Given the description of an element on the screen output the (x, y) to click on. 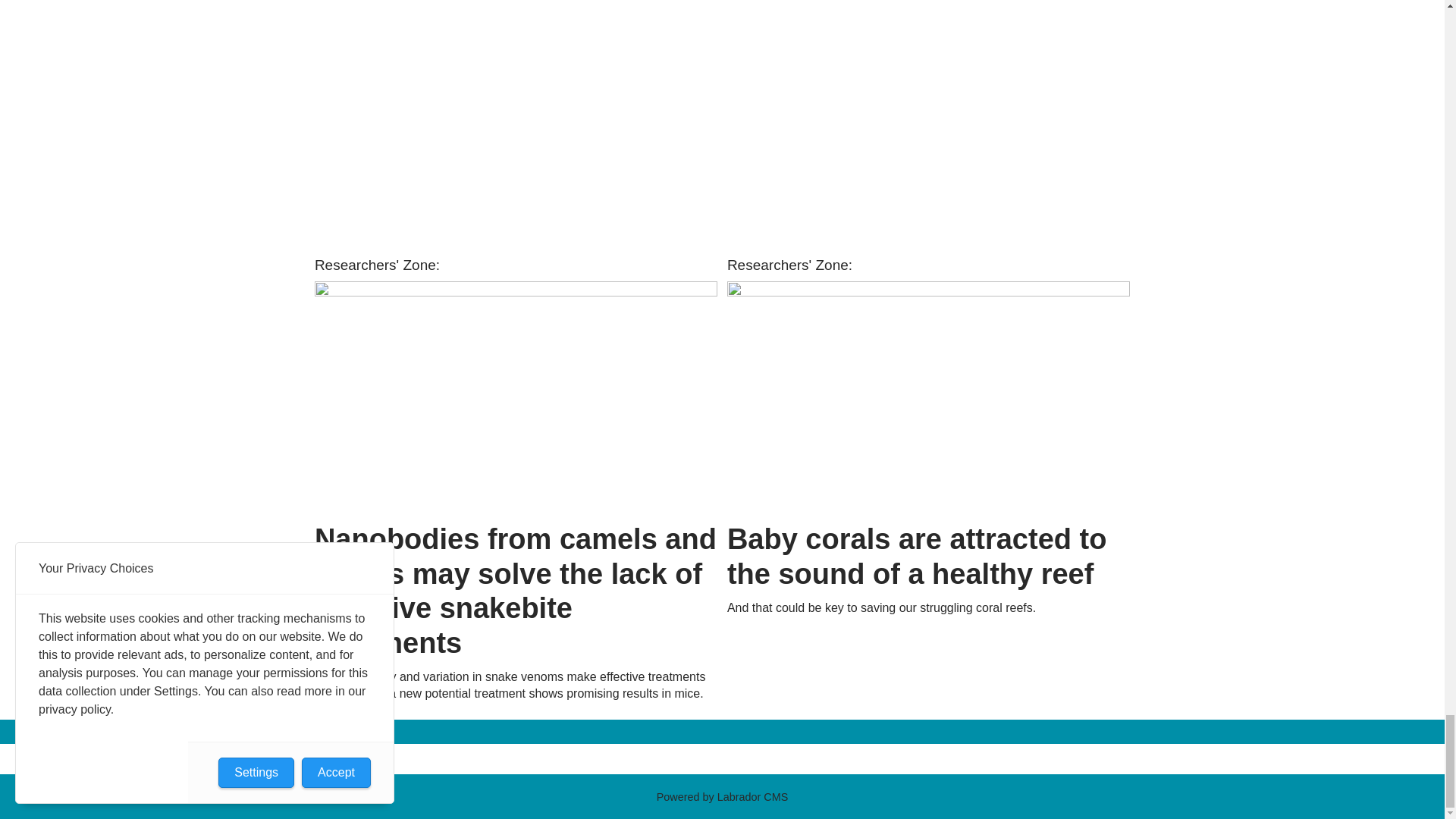
Baby corals are attracted to the sound of a healthy reef (927, 396)
